Given the description of an element on the screen output the (x, y) to click on. 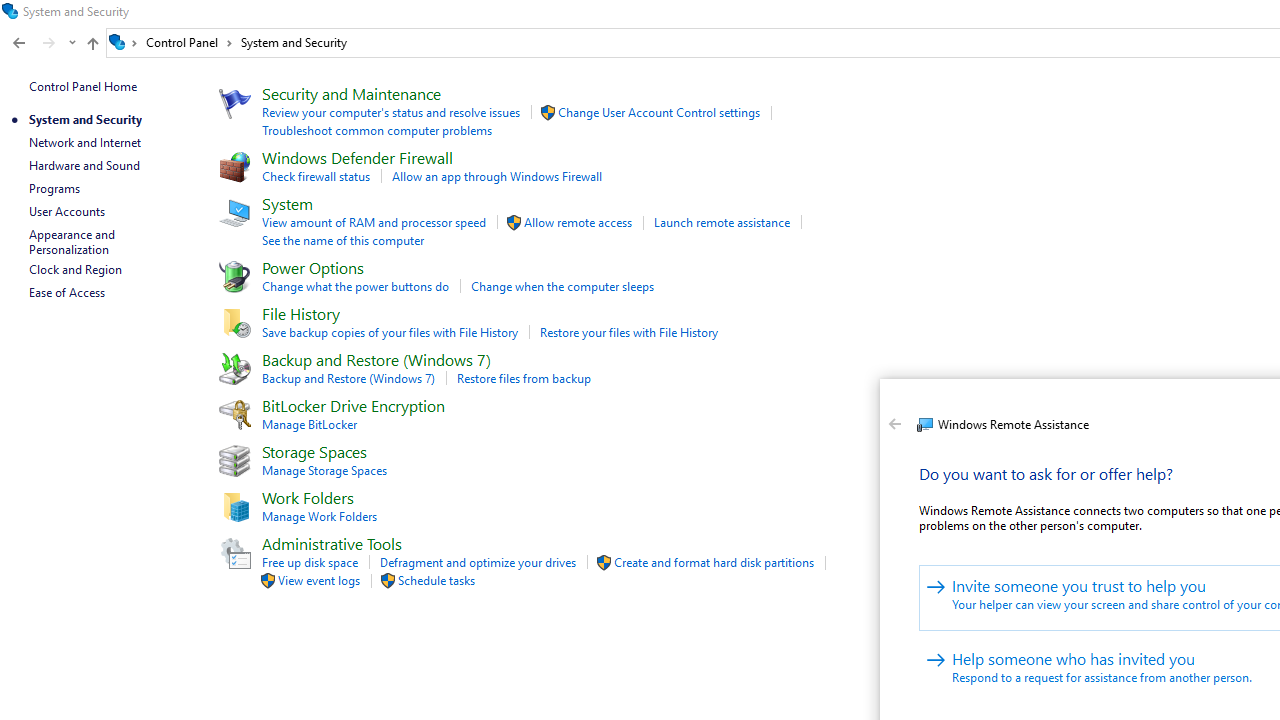
System (891, 397)
Back (895, 424)
System (891, 397)
